Given the description of an element on the screen output the (x, y) to click on. 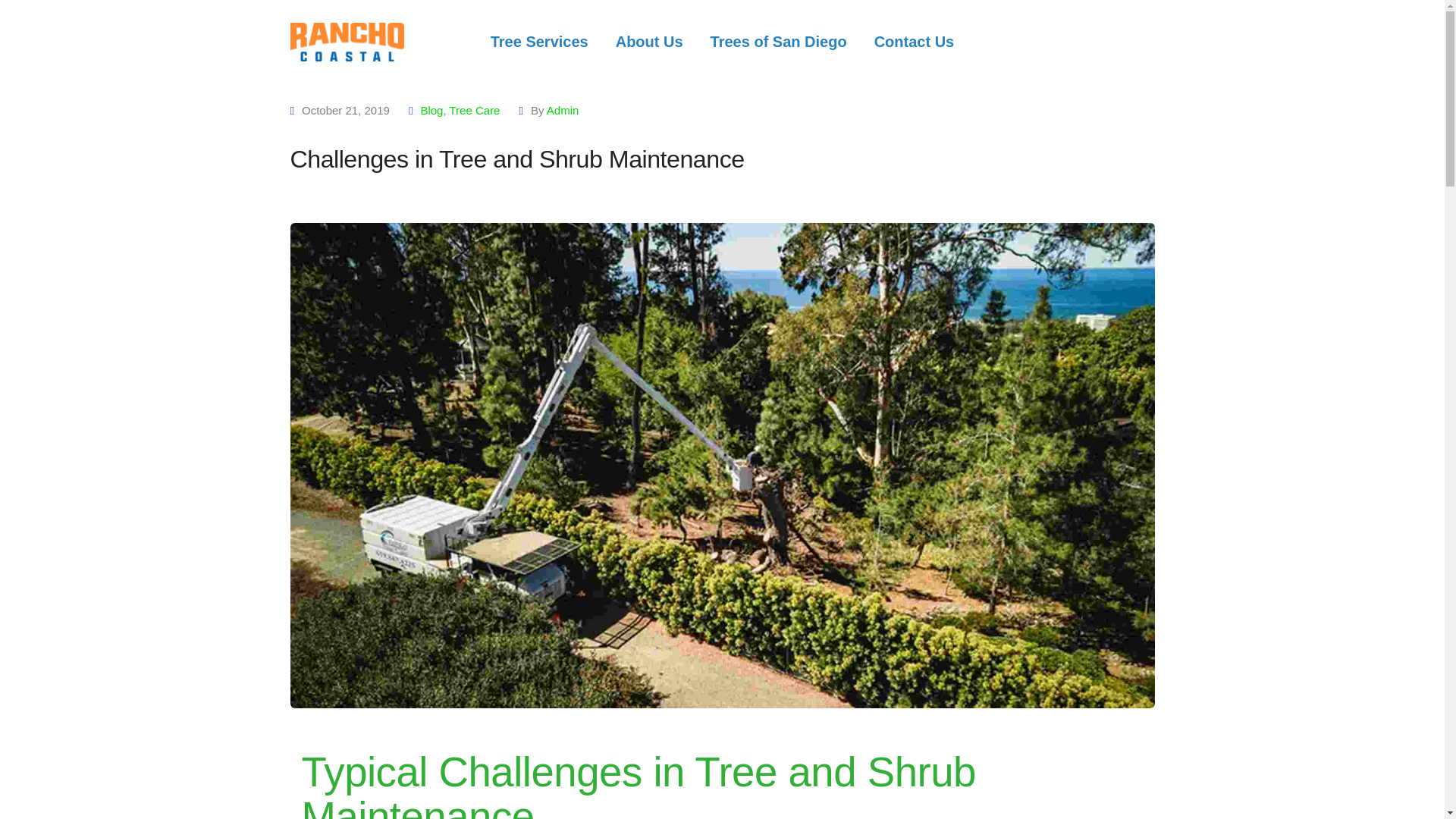
Tree Care (473, 110)
Contact Us (915, 41)
Admin (563, 110)
Tree Services (539, 41)
Trees of San Diego (778, 41)
Blog (431, 110)
About Us (648, 41)
